Given the description of an element on the screen output the (x, y) to click on. 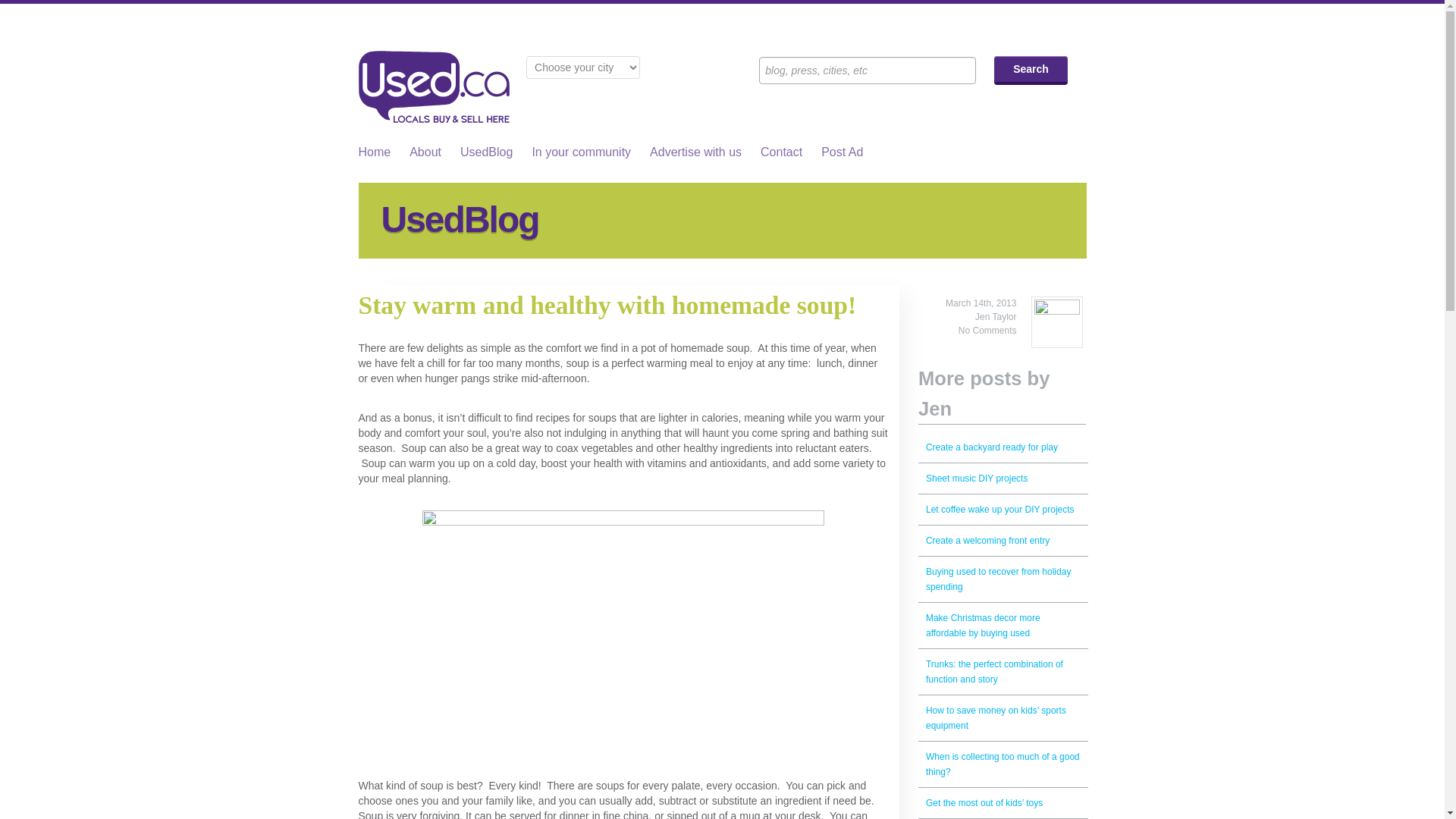
Search (1030, 70)
Posts by Jen Taylor (995, 317)
tomato soup  (623, 641)
